Given the description of an element on the screen output the (x, y) to click on. 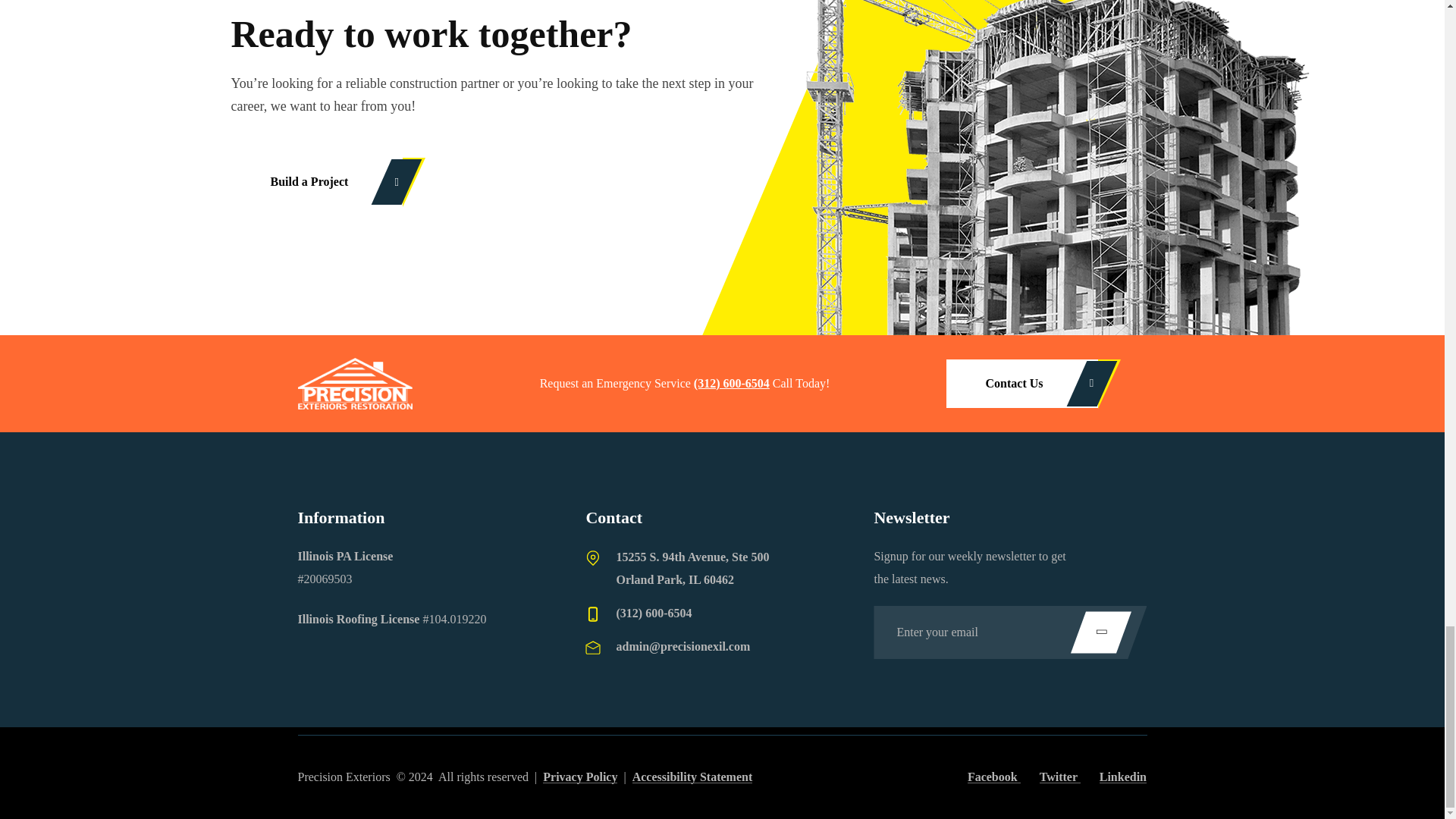
Build a Project (316, 182)
Linkedin (1123, 776)
Privacy Policy (580, 776)
Linkedin (1123, 776)
Twitter (1059, 776)
Facebook (994, 776)
Contact Us (1021, 383)
Twitter (1059, 776)
Facebook (994, 776)
Accessibility Statement (691, 776)
